Given the description of an element on the screen output the (x, y) to click on. 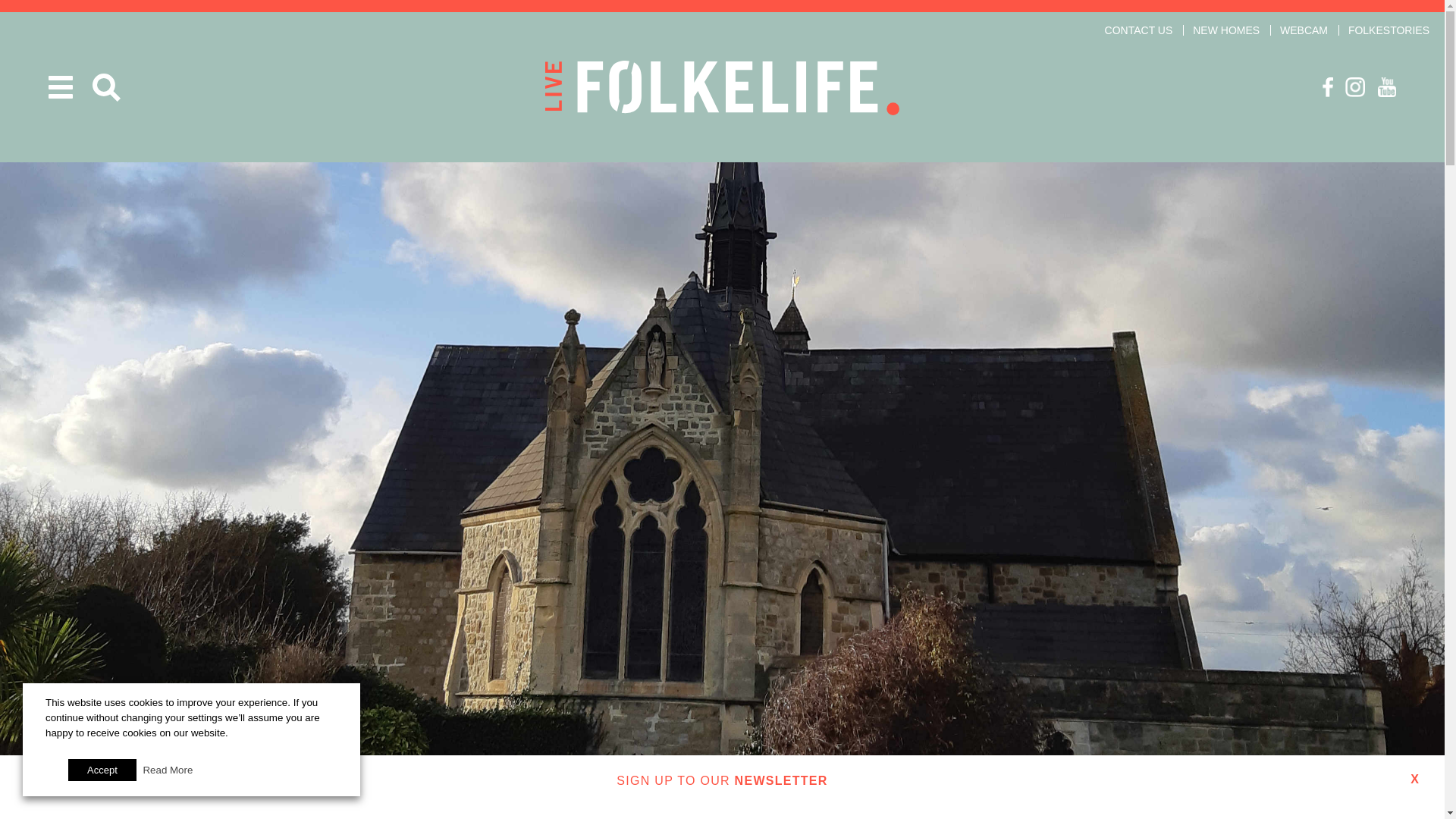
WEBCAM (1303, 30)
Instagram (1355, 86)
PLACES (721, 800)
Youtube (1386, 86)
Places (721, 800)
Search (106, 87)
CONTACT US (1139, 30)
Go to home (721, 87)
NEW HOMES (1225, 30)
Toggle navigation (60, 87)
FOLKESTORIES (1388, 30)
Search (106, 87)
